Given the description of an element on the screen output the (x, y) to click on. 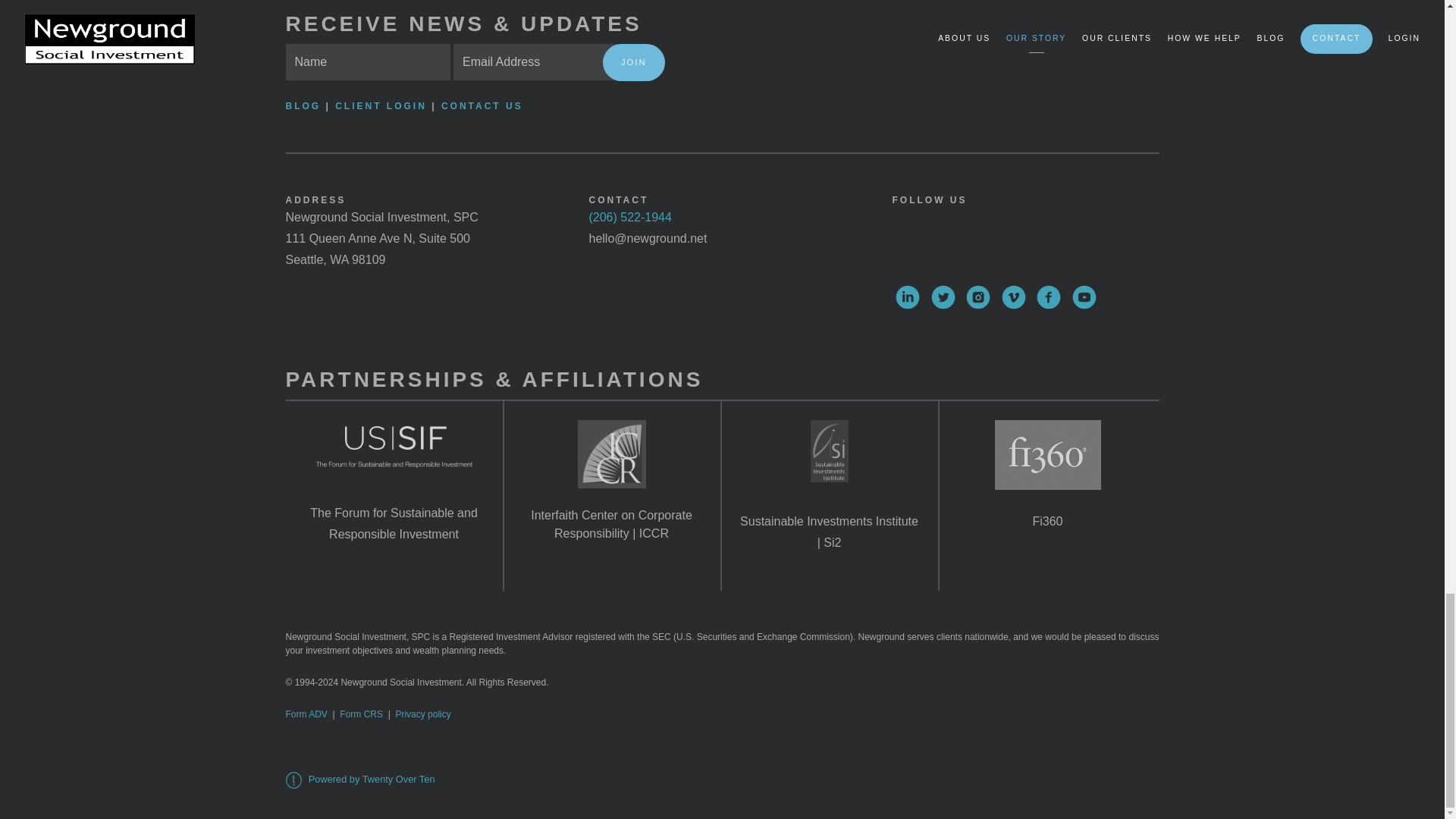
Call via Elevate (629, 216)
Privacy policy (421, 714)
JOIN (632, 62)
BLOG (304, 105)
Form CRS (360, 714)
CONTACT US (481, 105)
Powered by Twenty Over Ten (359, 778)
Form ADV (305, 714)
CLIENT LOGIN (380, 105)
